Given the description of an element on the screen output the (x, y) to click on. 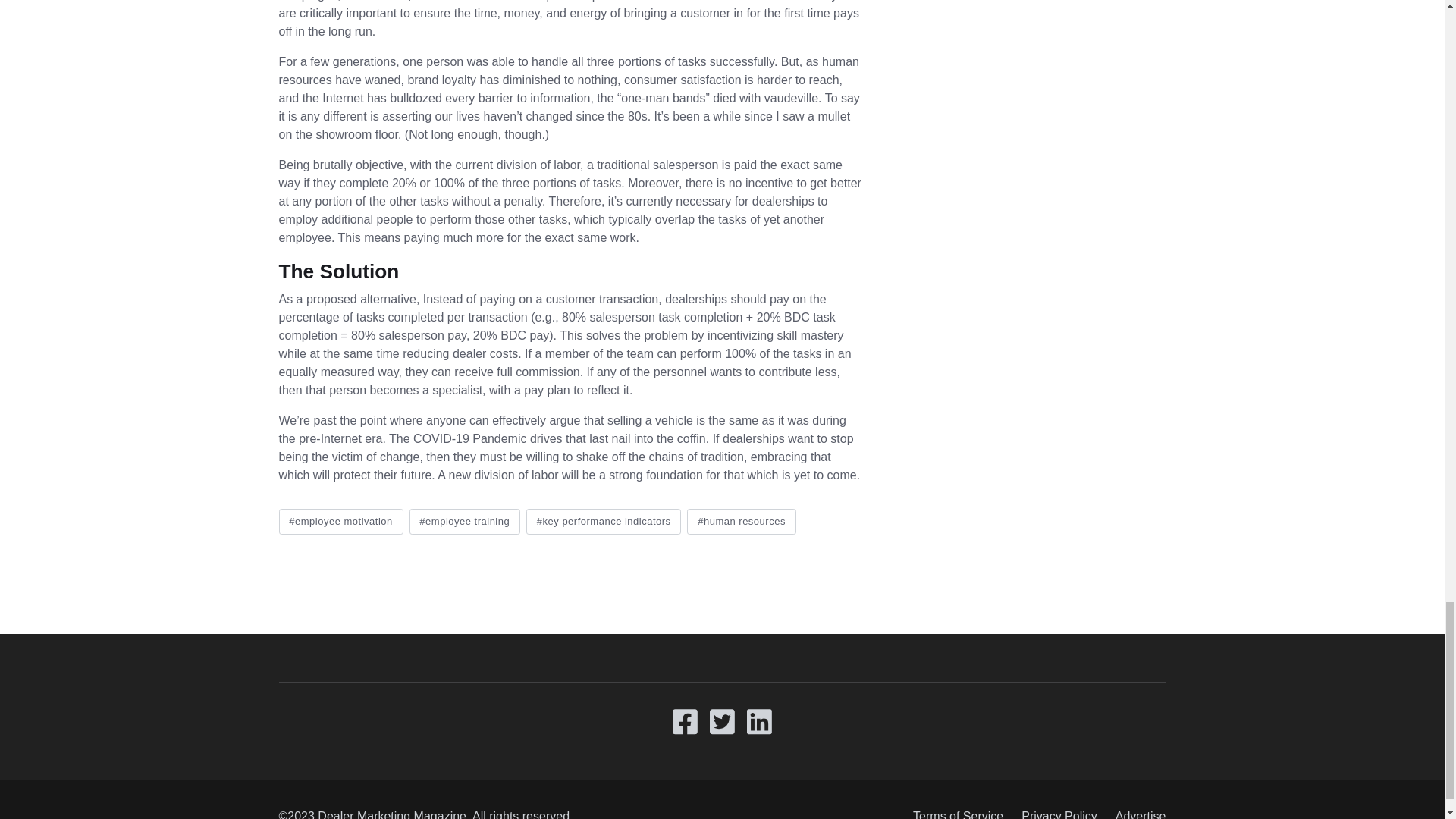
Terms of Service (957, 811)
Privacy Policy (1058, 811)
Advertise (1136, 811)
Dealer Marketing Magazine (391, 814)
